Given the description of an element on the screen output the (x, y) to click on. 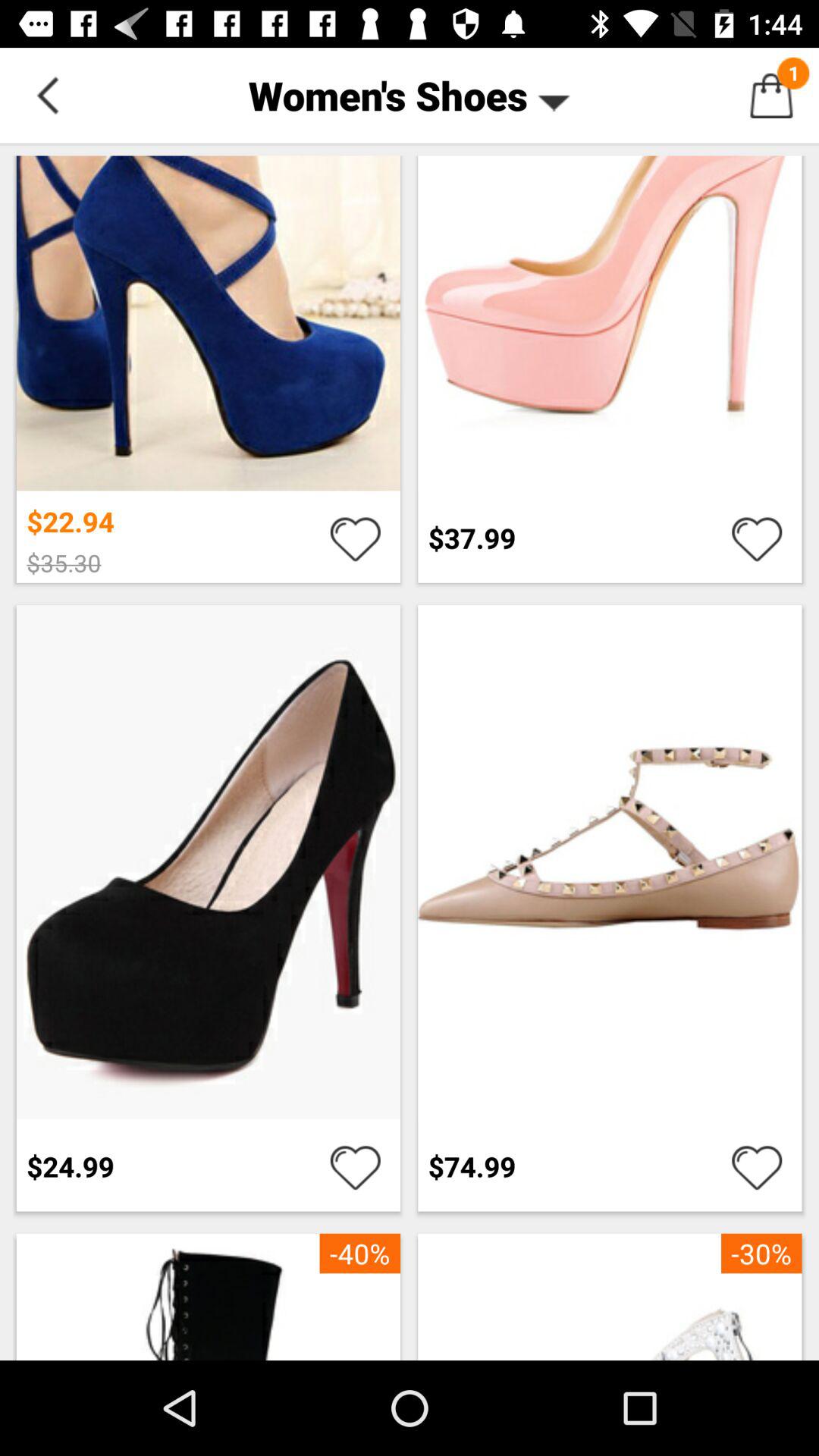
shows heart icon (756, 537)
